Given the description of an element on the screen output the (x, y) to click on. 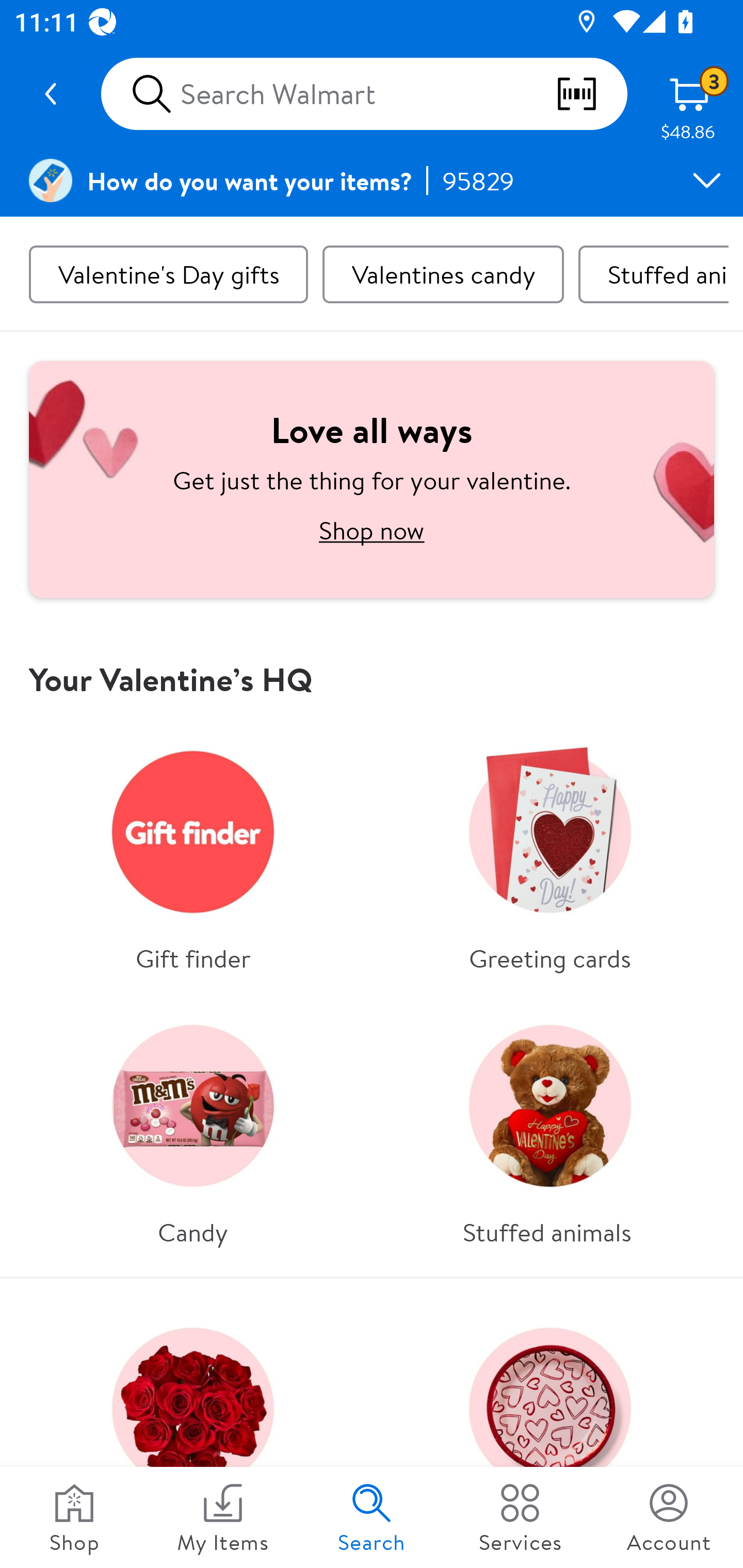
Navigate up (50, 93)
Search Walmart scan barcodes qr codes and more (364, 94)
scan barcodes qr codes and more (591, 94)
Valentine's Day gifts (168, 274)
Valentines candy (442, 274)
Stuffed animals (653, 274)
Shop now (371, 529)
Gift finder (192, 852)
Greeting cards (549, 852)
Candy (192, 1127)
Stuffed animals  (549, 1127)
Flowers (192, 1429)
Party supplies (549, 1429)
Shop (74, 1517)
My Items (222, 1517)
Services (519, 1517)
Account (668, 1517)
